Given the description of an element on the screen output the (x, y) to click on. 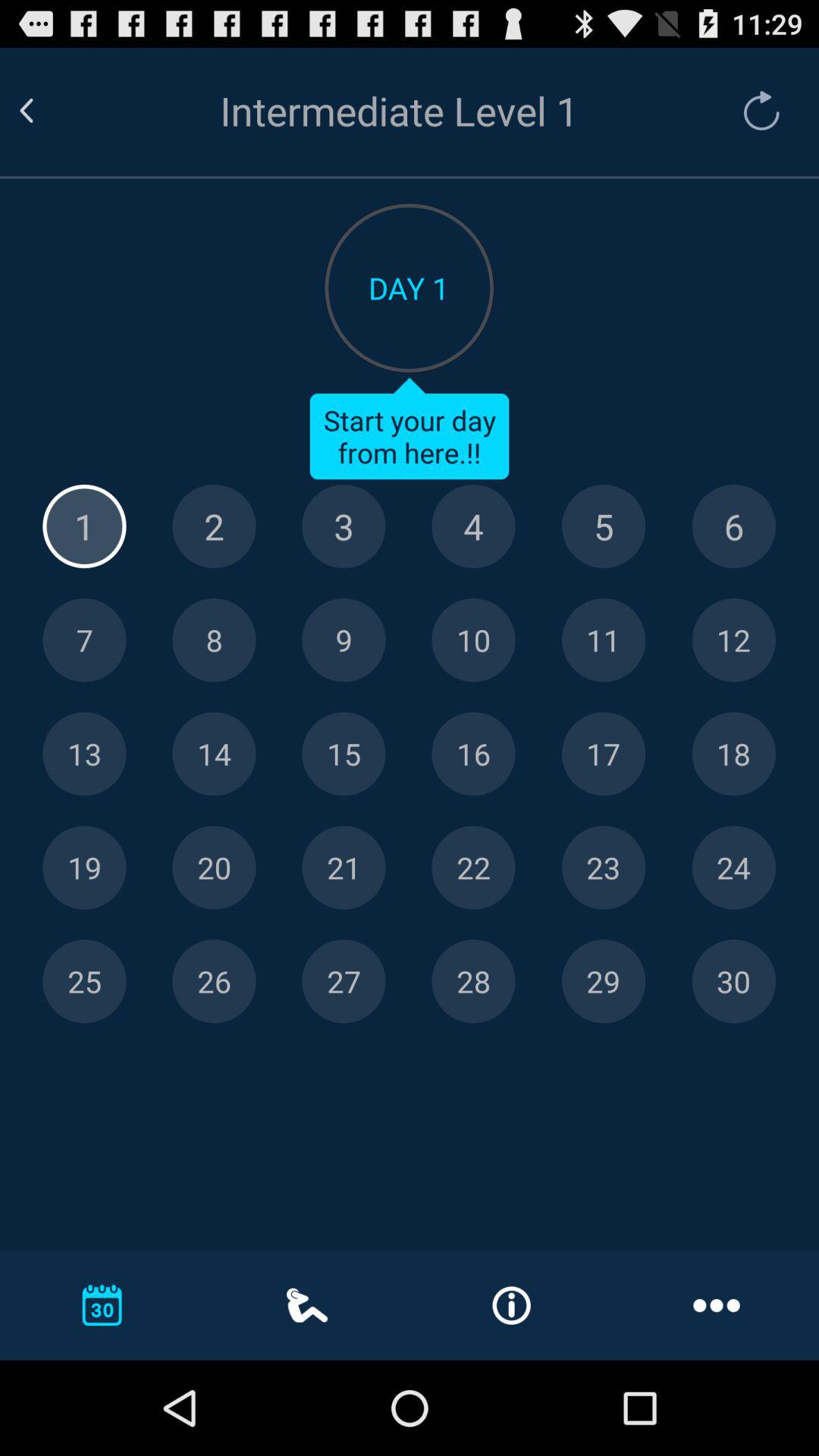
day (84, 639)
